Given the description of an element on the screen output the (x, y) to click on. 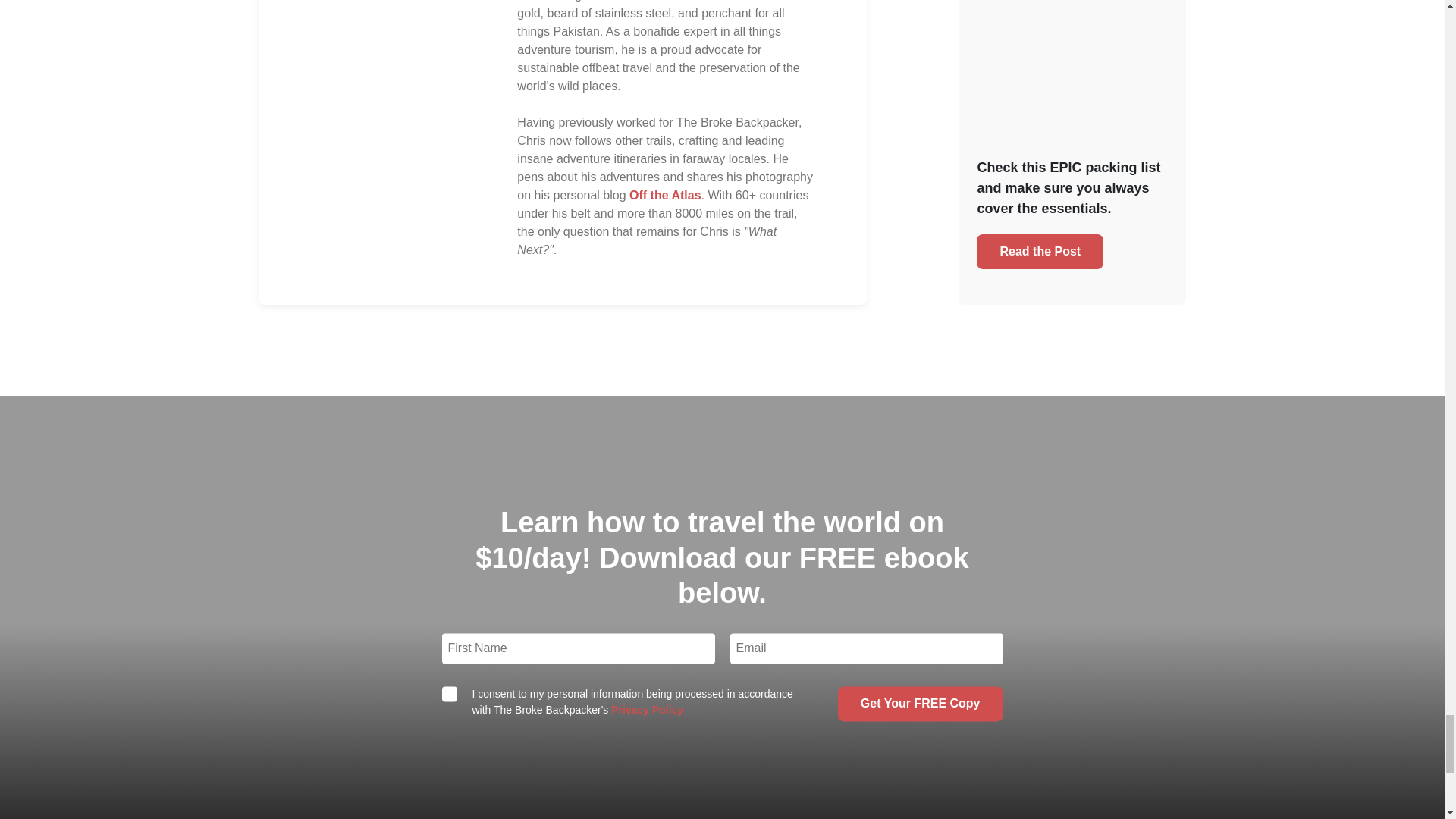
1 (449, 694)
